Given the description of an element on the screen output the (x, y) to click on. 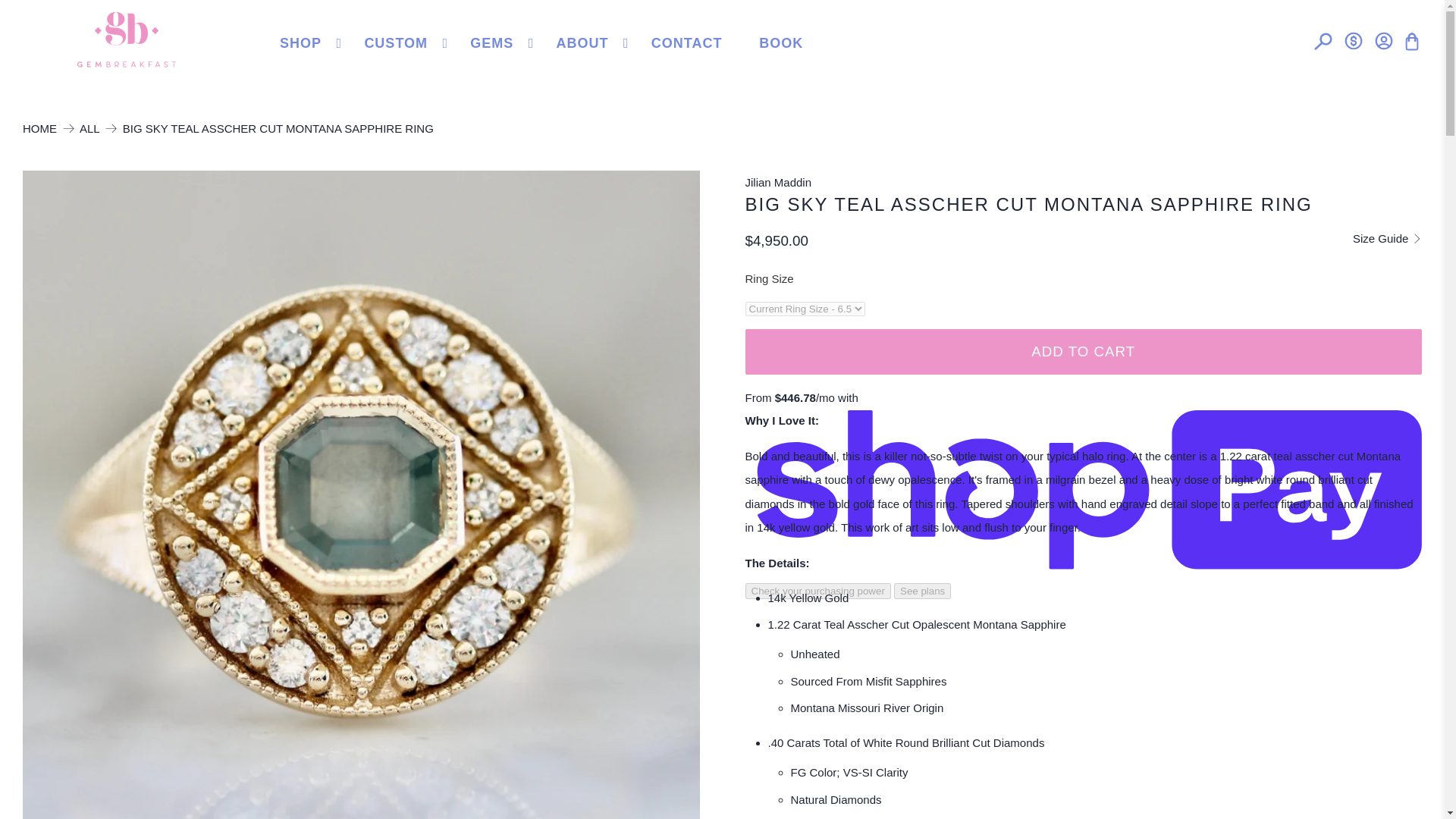
HEATED VS UNHEATED SAPPHIRES: WHAT YOU NEED TO KNOW (815, 653)
Gem Breakfast (39, 128)
CUSTOM (408, 43)
SHOP (312, 43)
Gem Breakfast (126, 39)
GEMS (504, 43)
shop misfit sapphires (906, 680)
